Given the description of an element on the screen output the (x, y) to click on. 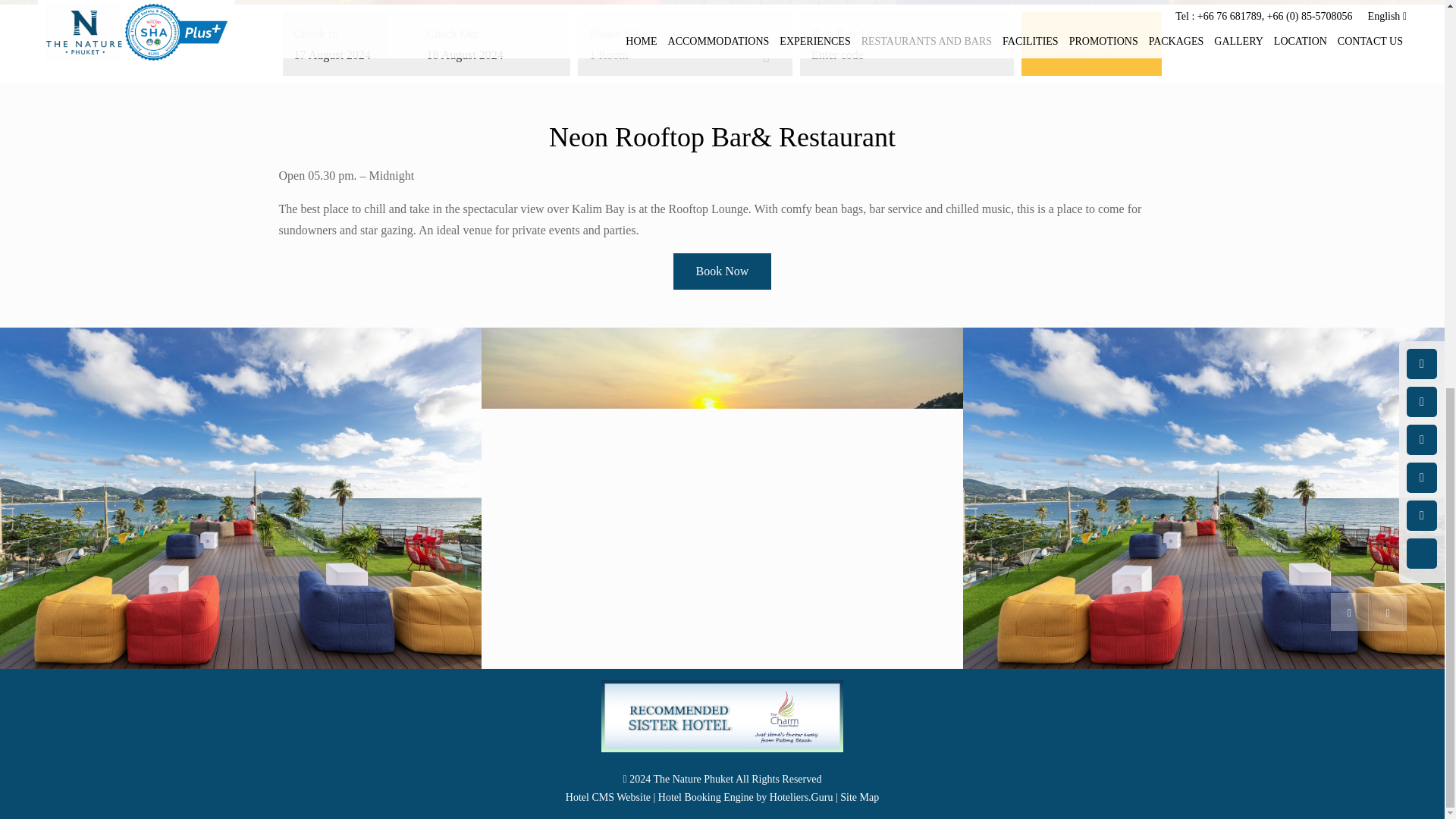
Book Now (721, 270)
Book Now (721, 271)
Book Now (1091, 44)
